Given the description of an element on the screen output the (x, y) to click on. 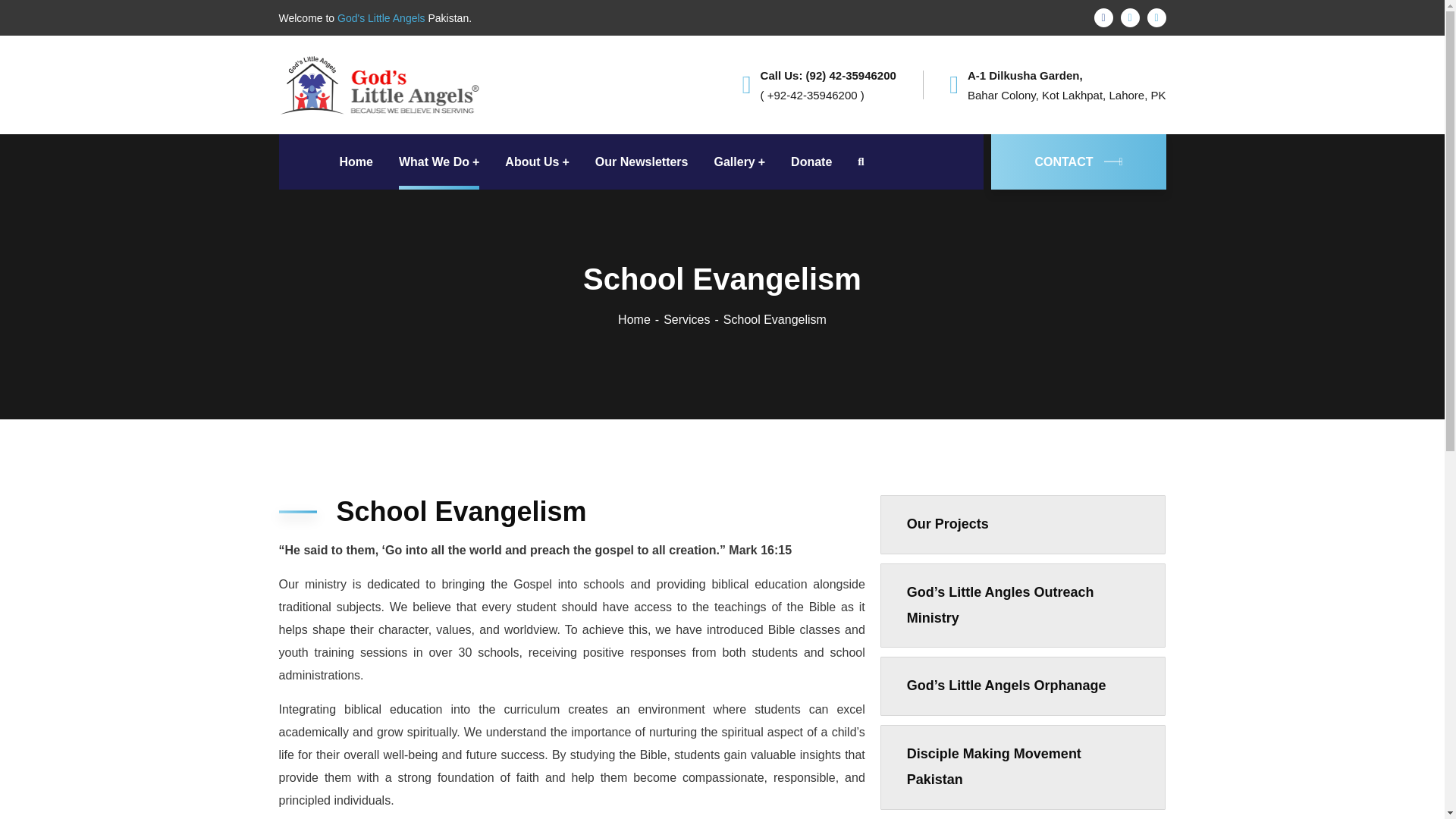
About Us (537, 161)
CONTACT (1078, 161)
What We Do (438, 161)
God's Little Angels (394, 83)
Gallery (739, 161)
Our Newsletters (641, 161)
